Given the description of an element on the screen output the (x, y) to click on. 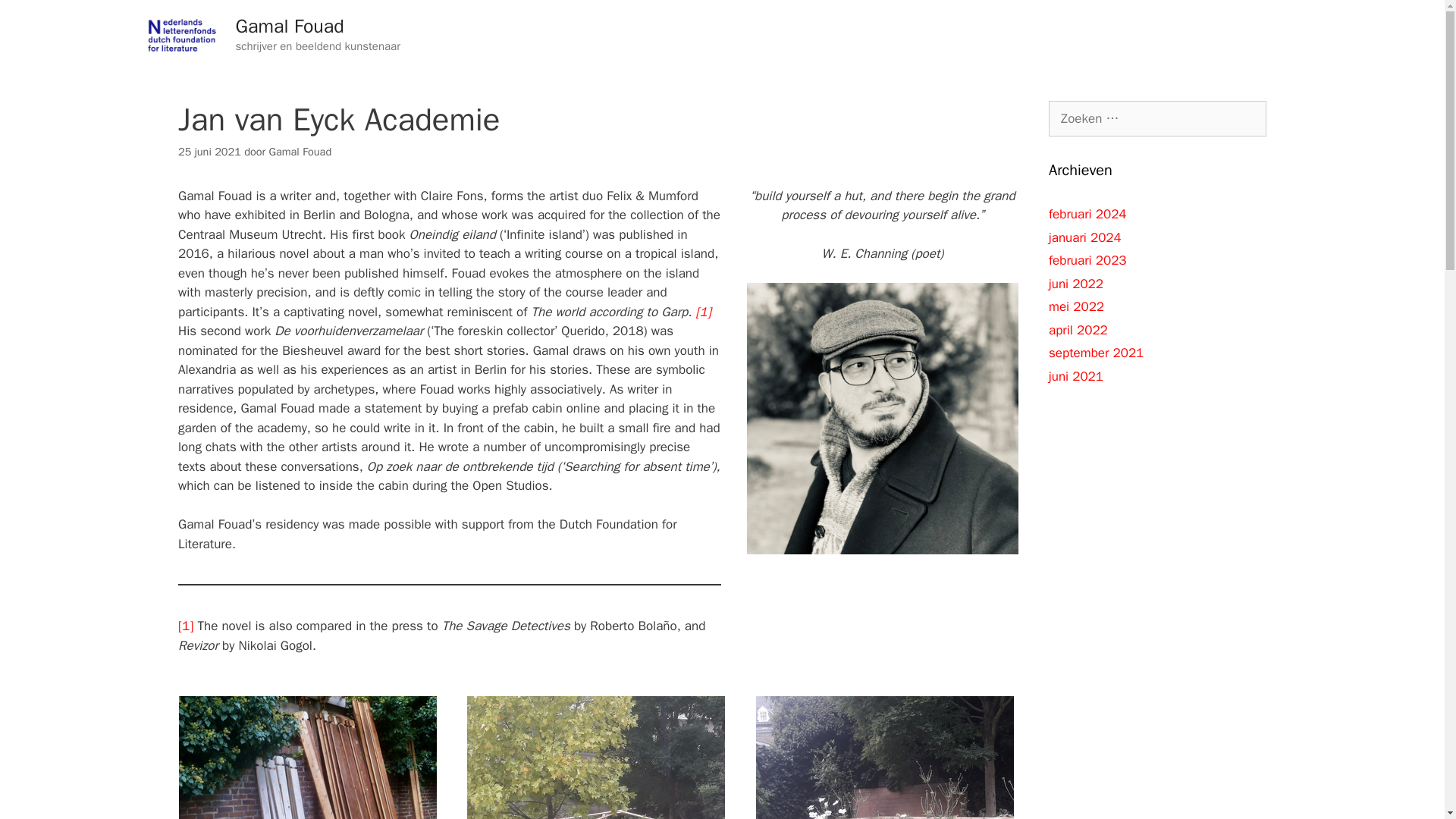
februari 2024 (1087, 213)
Alle berichten tonen van Gamal Fouad (299, 151)
Zoeken (36, 18)
september 2021 (1095, 352)
februari 2023 (1087, 260)
juni 2022 (1075, 283)
Zoek naar: (1157, 117)
januari 2024 (1084, 236)
Gamal Fouad (288, 25)
mei 2022 (1075, 306)
april 2022 (1078, 329)
Gamal Fouad (299, 151)
juni 2021 (1075, 376)
